Given the description of an element on the screen output the (x, y) to click on. 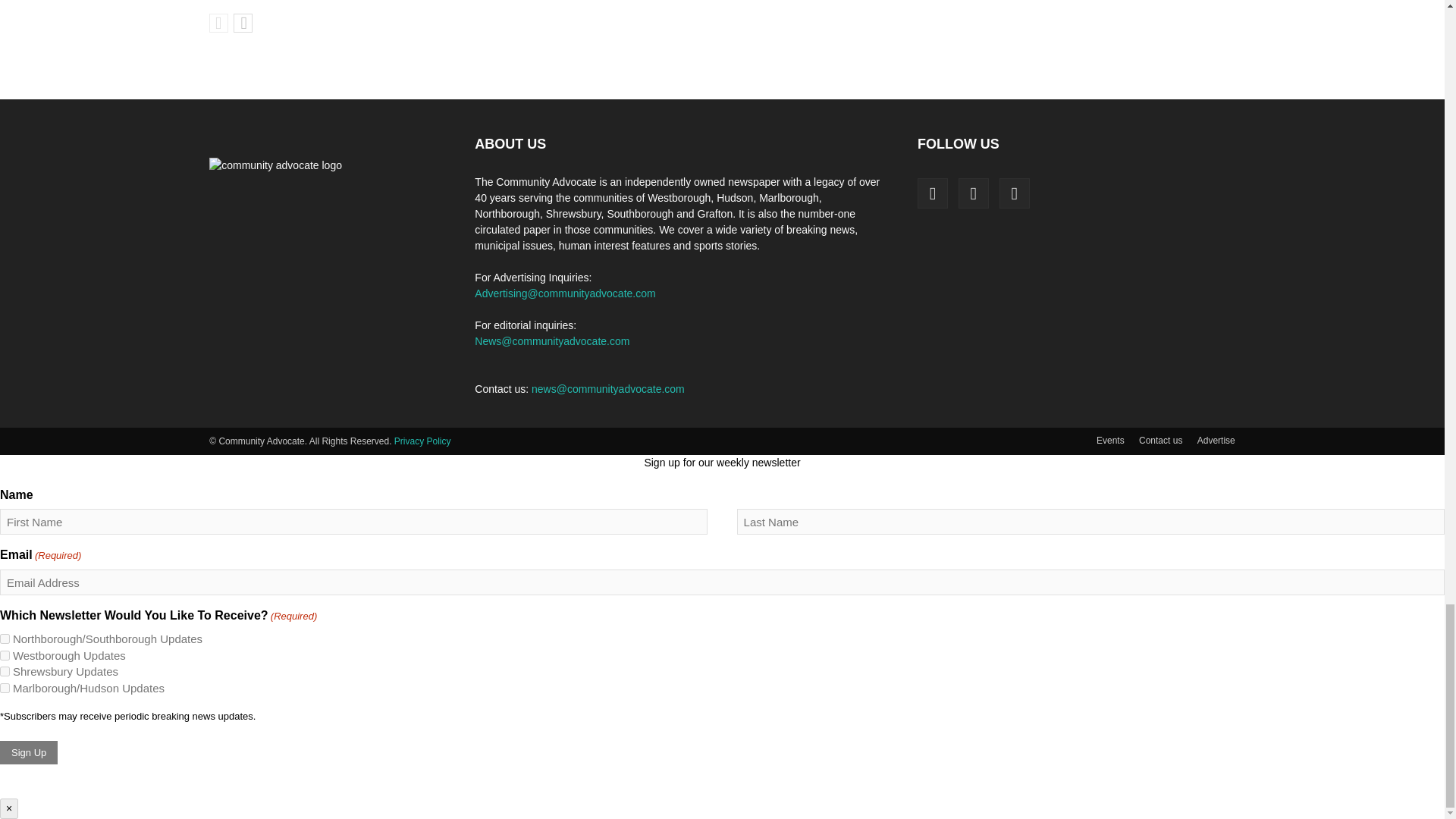
Shrewsbury Updates (5, 671)
Sign Up (29, 752)
Westborough Updates (5, 655)
